Given the description of an element on the screen output the (x, y) to click on. 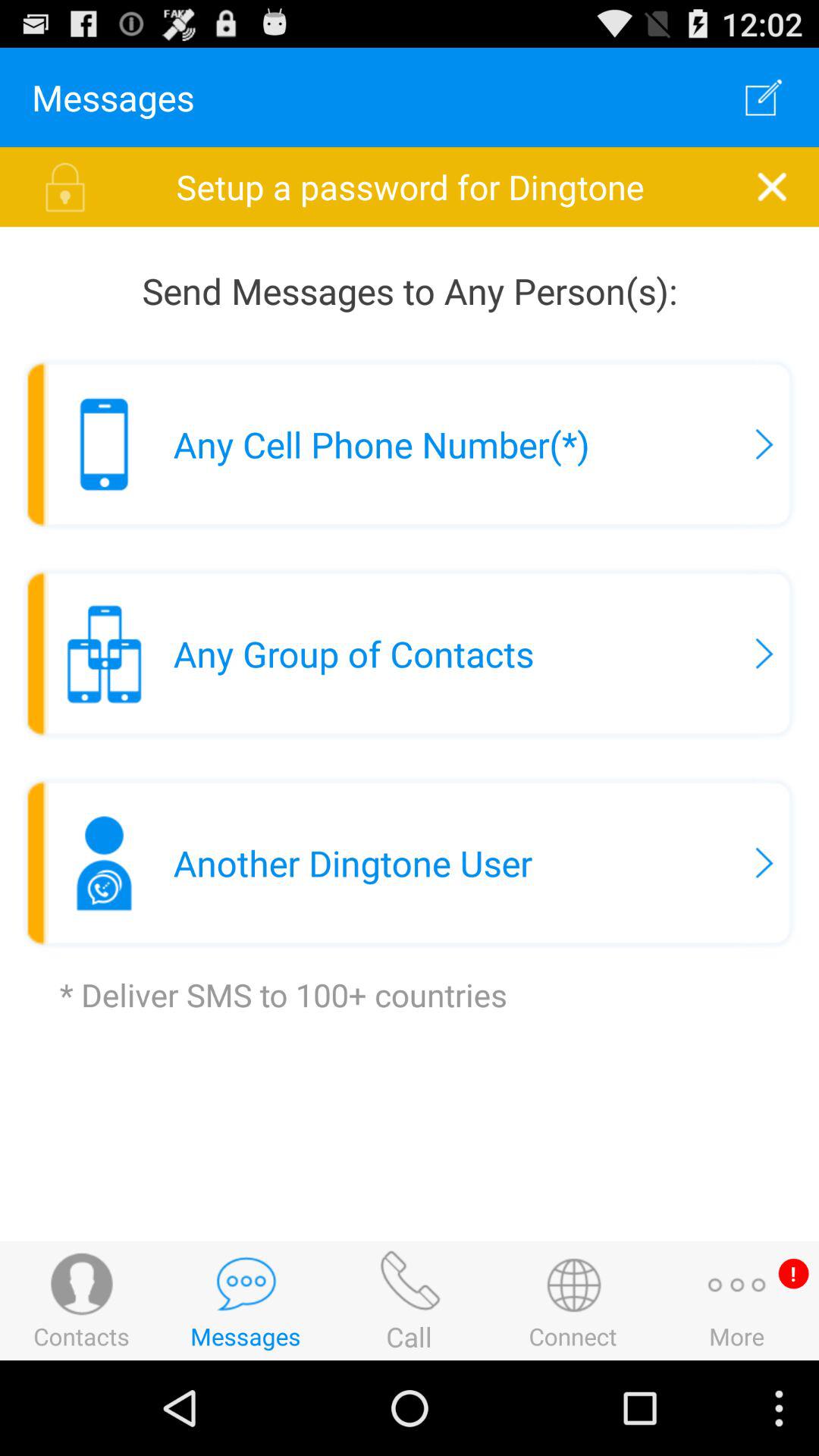
choose the app to the right of messages icon (763, 97)
